Given the description of an element on the screen output the (x, y) to click on. 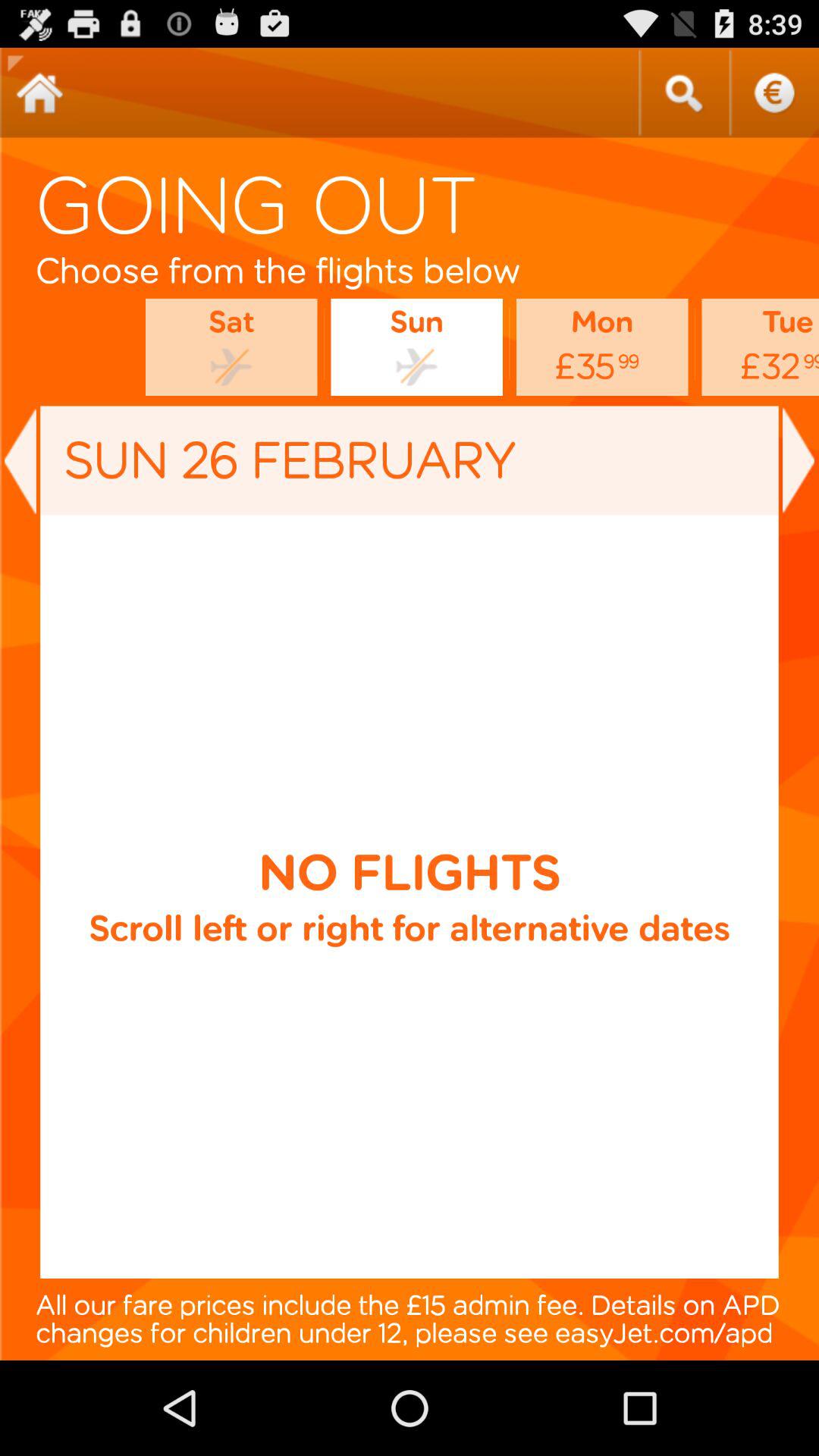
search for flights (683, 92)
